Given the description of an element on the screen output the (x, y) to click on. 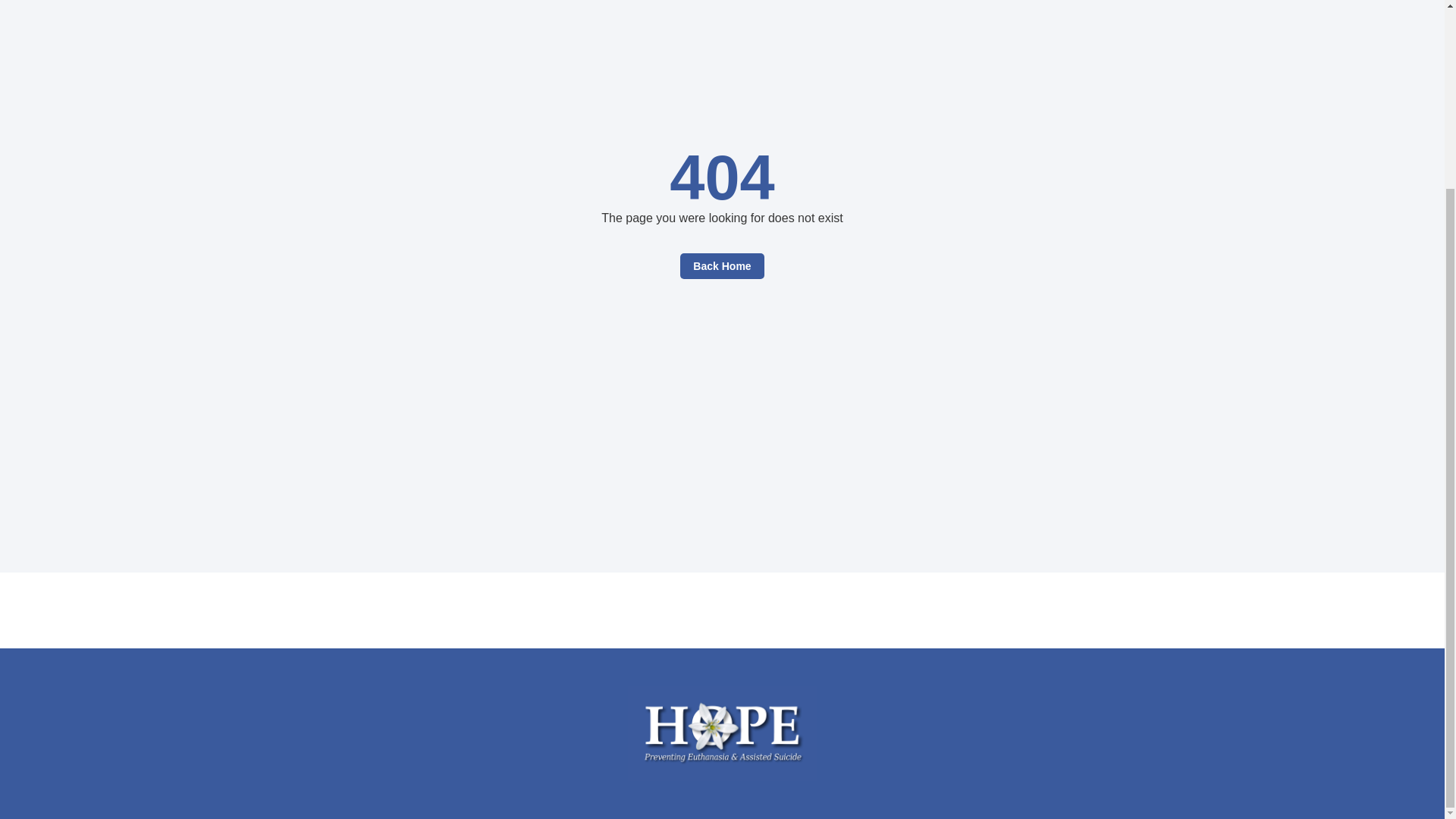
Back Home (720, 266)
